Given the description of an element on the screen output the (x, y) to click on. 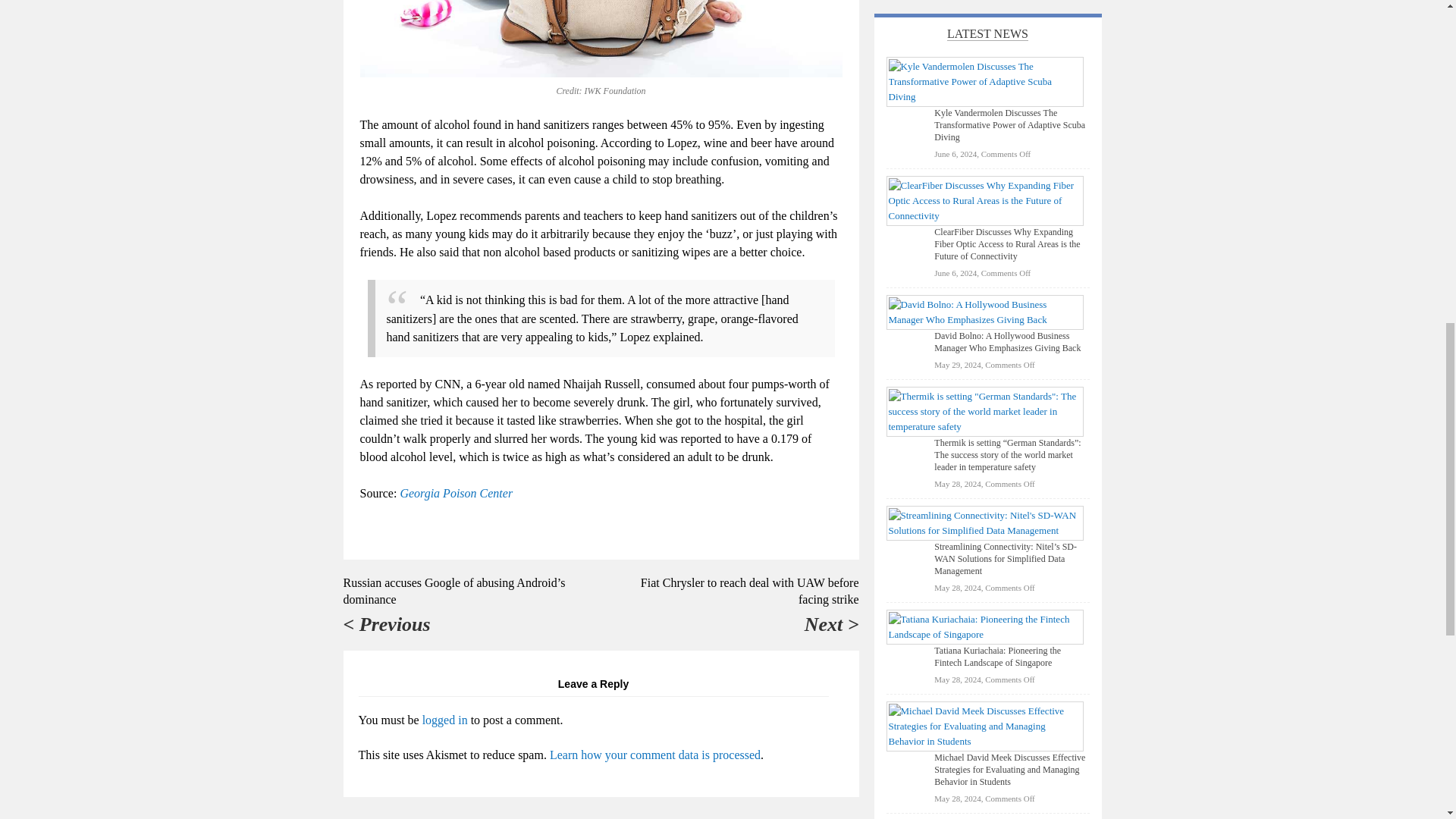
Learn how your comment data is processed (655, 754)
Georgia Poison Center (455, 492)
Fiat Chrysler to reach deal with UAW before facing strike (749, 591)
logged in (444, 719)
